Given the description of an element on the screen output the (x, y) to click on. 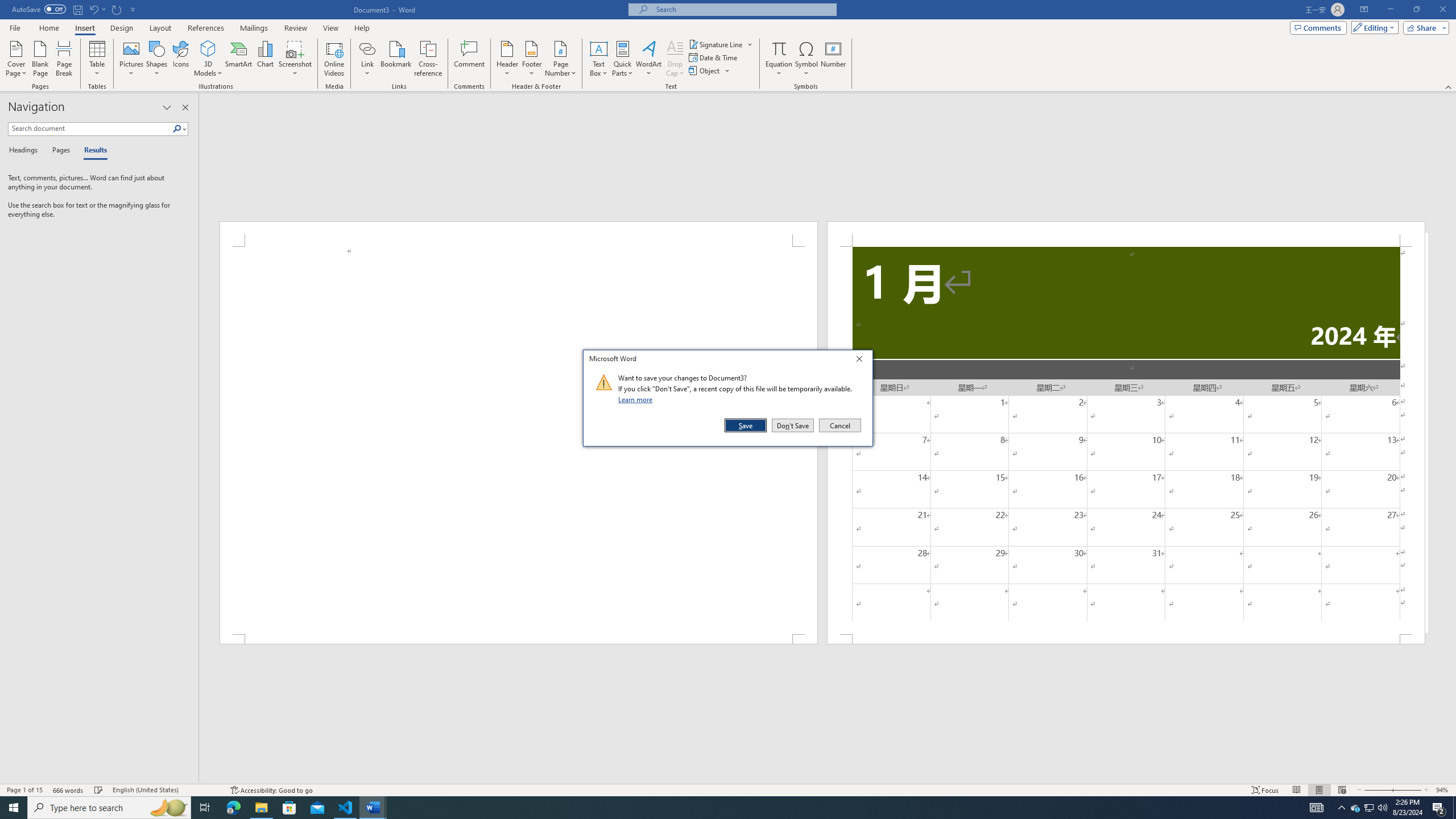
Microsoft Edge (233, 807)
Word - 2 running windows (1368, 807)
Repeat New Page (373, 807)
Object... (117, 9)
